Given the description of an element on the screen output the (x, y) to click on. 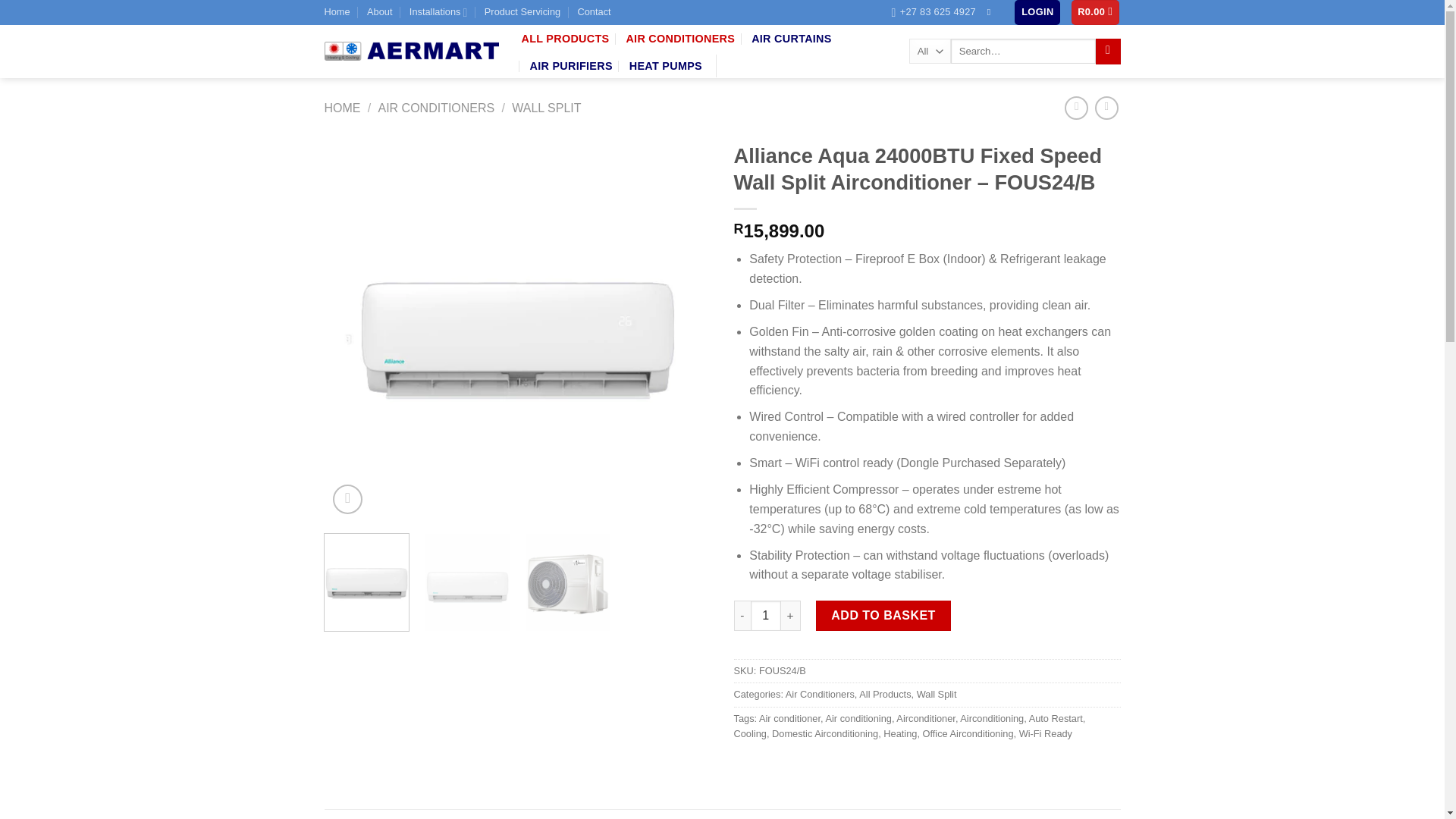
Basket (1095, 12)
AIR CURTAINS (791, 38)
All Products (885, 694)
R0.00 (1095, 12)
LOGIN (1036, 12)
About (378, 11)
WALL SPLIT (546, 107)
Search (1108, 51)
ALL PRODUCTS (565, 38)
